Given the description of an element on the screen output the (x, y) to click on. 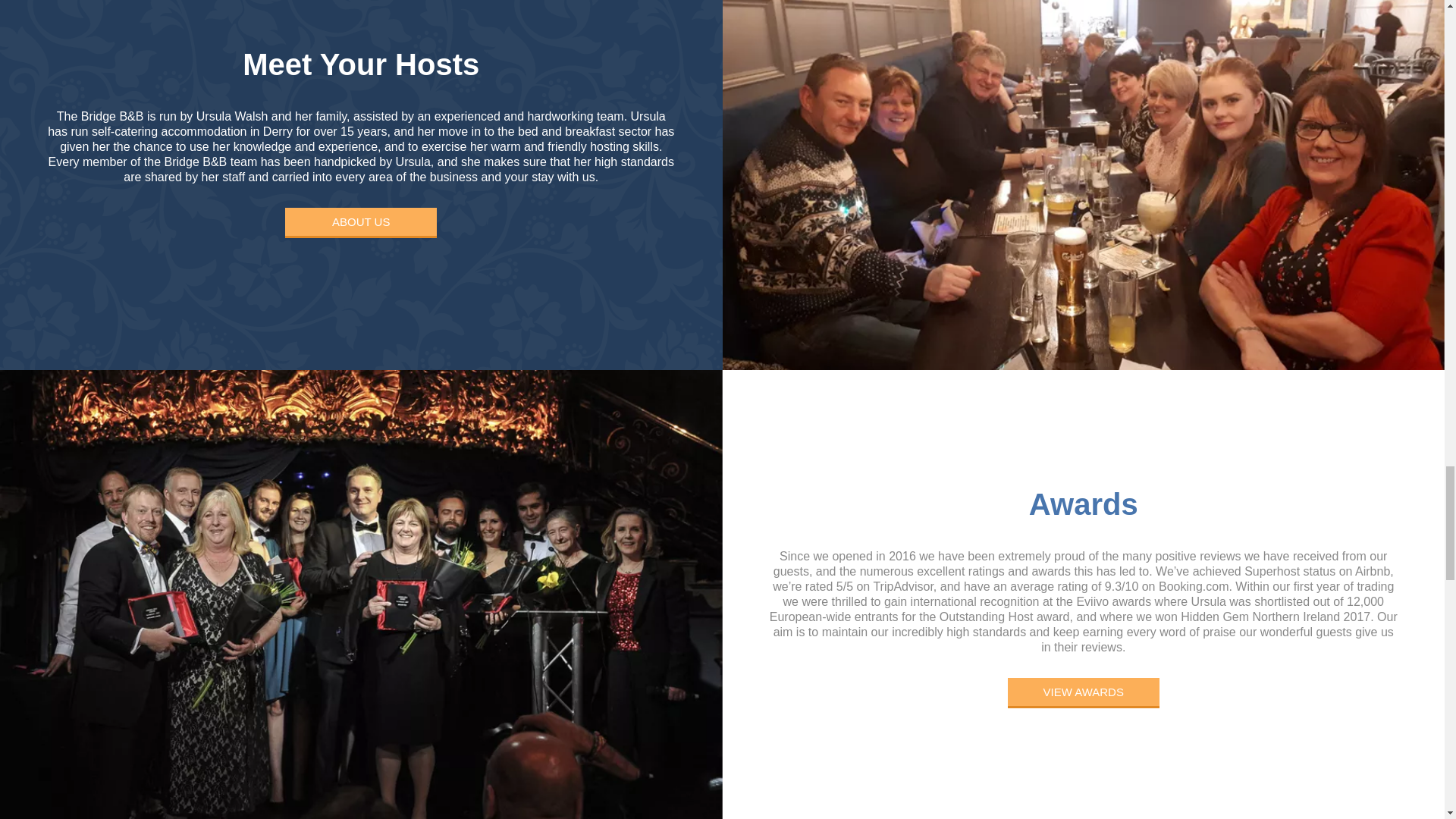
Awards (1083, 511)
VIEW AWARDS (1082, 693)
ABOUT US (360, 223)
Meet Your Hosts (361, 71)
